Given the description of an element on the screen output the (x, y) to click on. 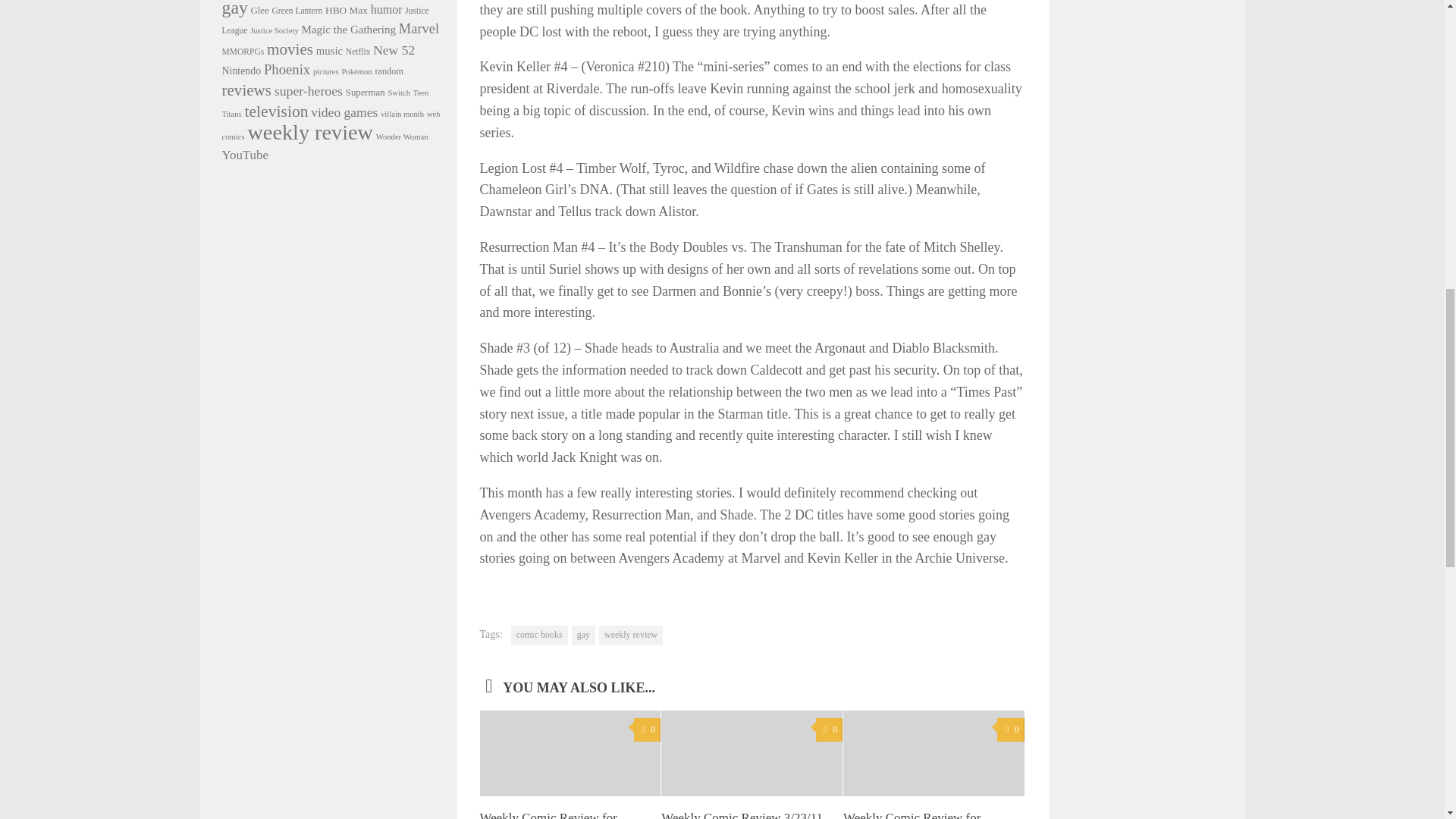
weekly review (630, 635)
0 (647, 730)
comic books (539, 635)
gay (583, 635)
